Given the description of an element on the screen output the (x, y) to click on. 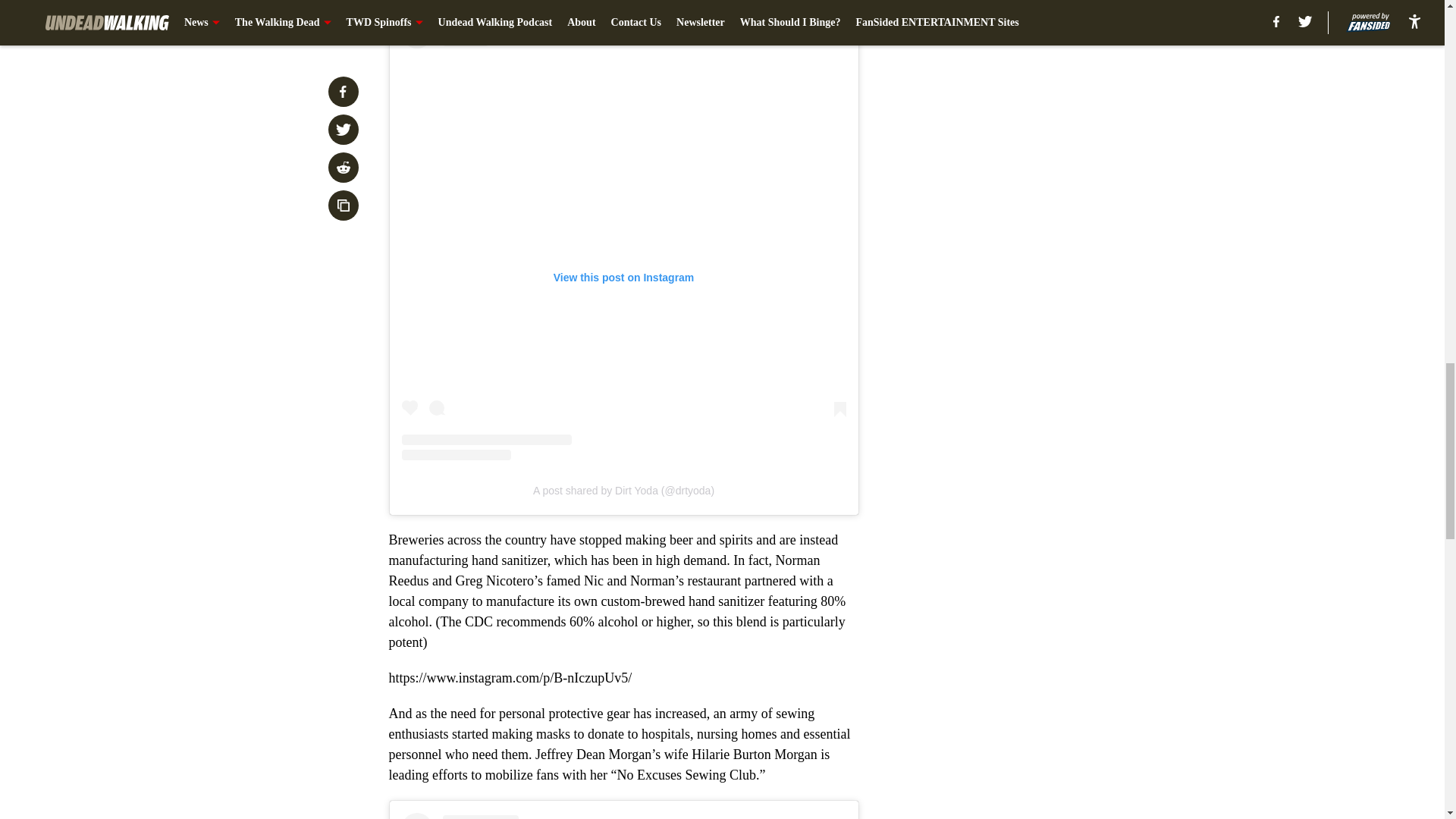
View this post on Instagram (623, 816)
